Given the description of an element on the screen output the (x, y) to click on. 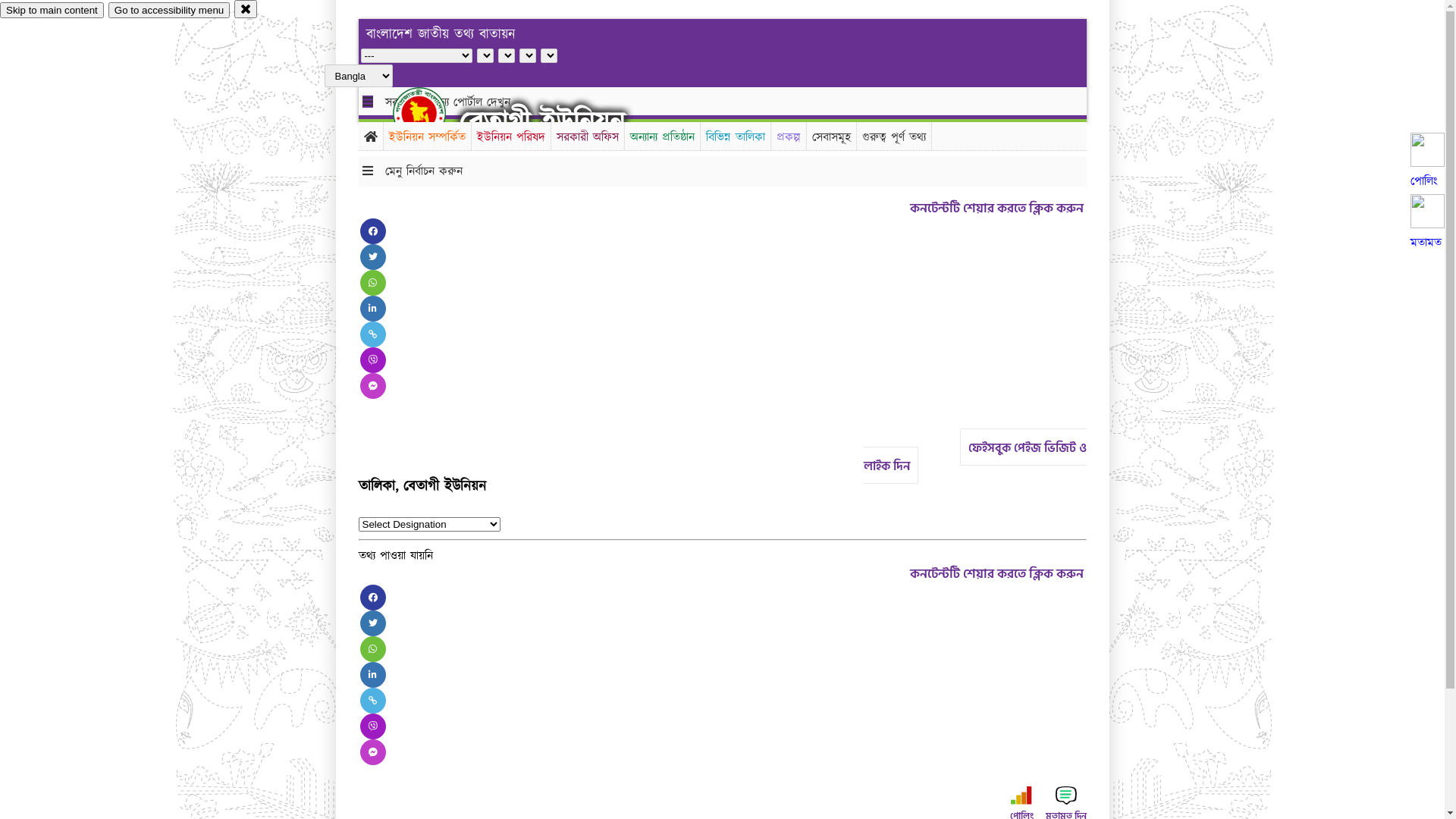
Go to accessibility menu Element type: text (168, 10)
Skip to main content Element type: text (51, 10)

                
             Element type: hover (431, 112)
close Element type: hover (245, 9)
